Given the description of an element on the screen output the (x, y) to click on. 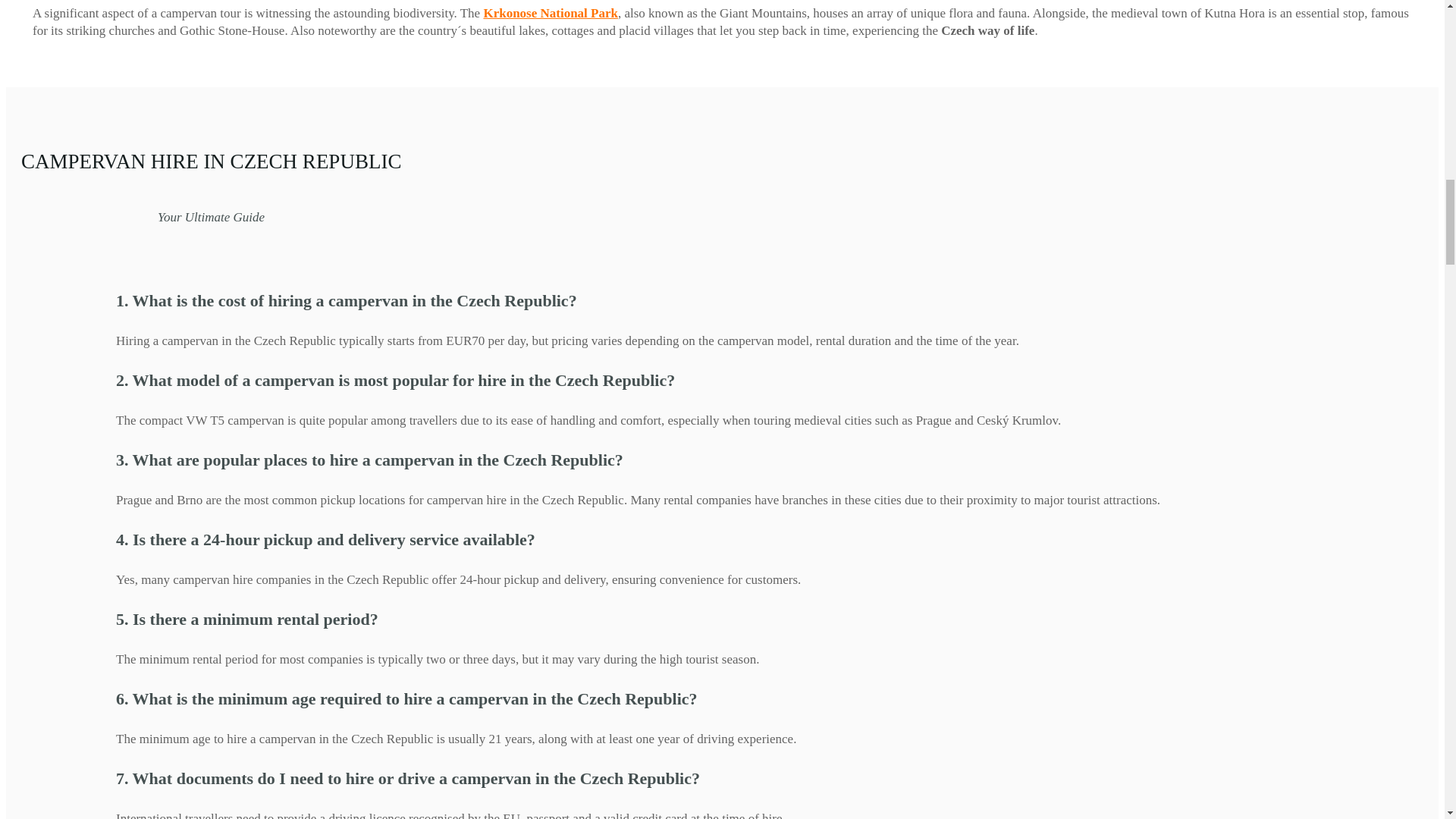
Krkonose National Park (550, 12)
